Given the description of an element on the screen output the (x, y) to click on. 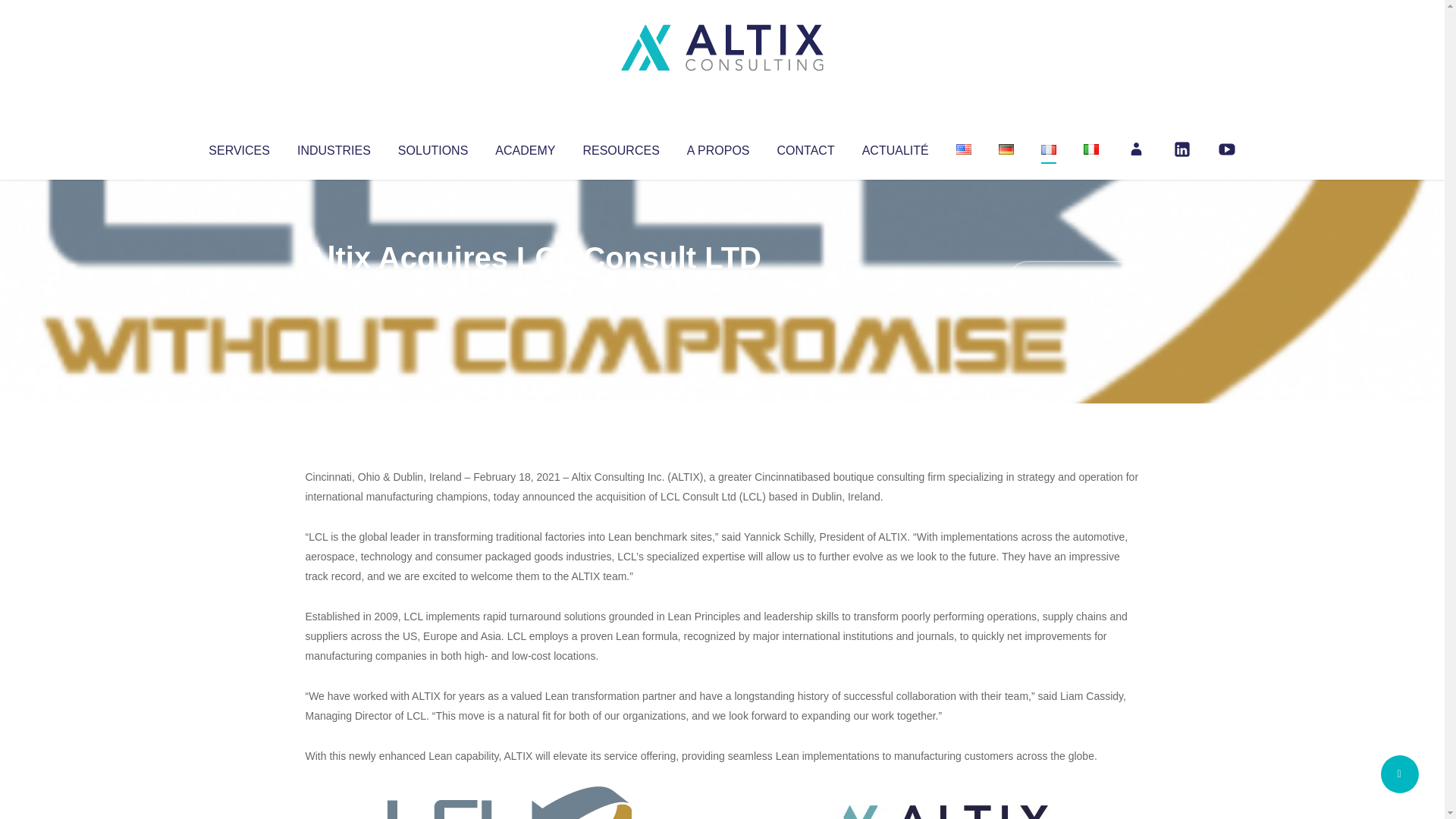
Altix (333, 287)
SERVICES (238, 146)
No Comments (1073, 278)
ACADEMY (524, 146)
SOLUTIONS (432, 146)
A PROPOS (718, 146)
Articles par Altix (333, 287)
RESOURCES (620, 146)
INDUSTRIES (334, 146)
Uncategorized (530, 287)
